Given the description of an element on the screen output the (x, y) to click on. 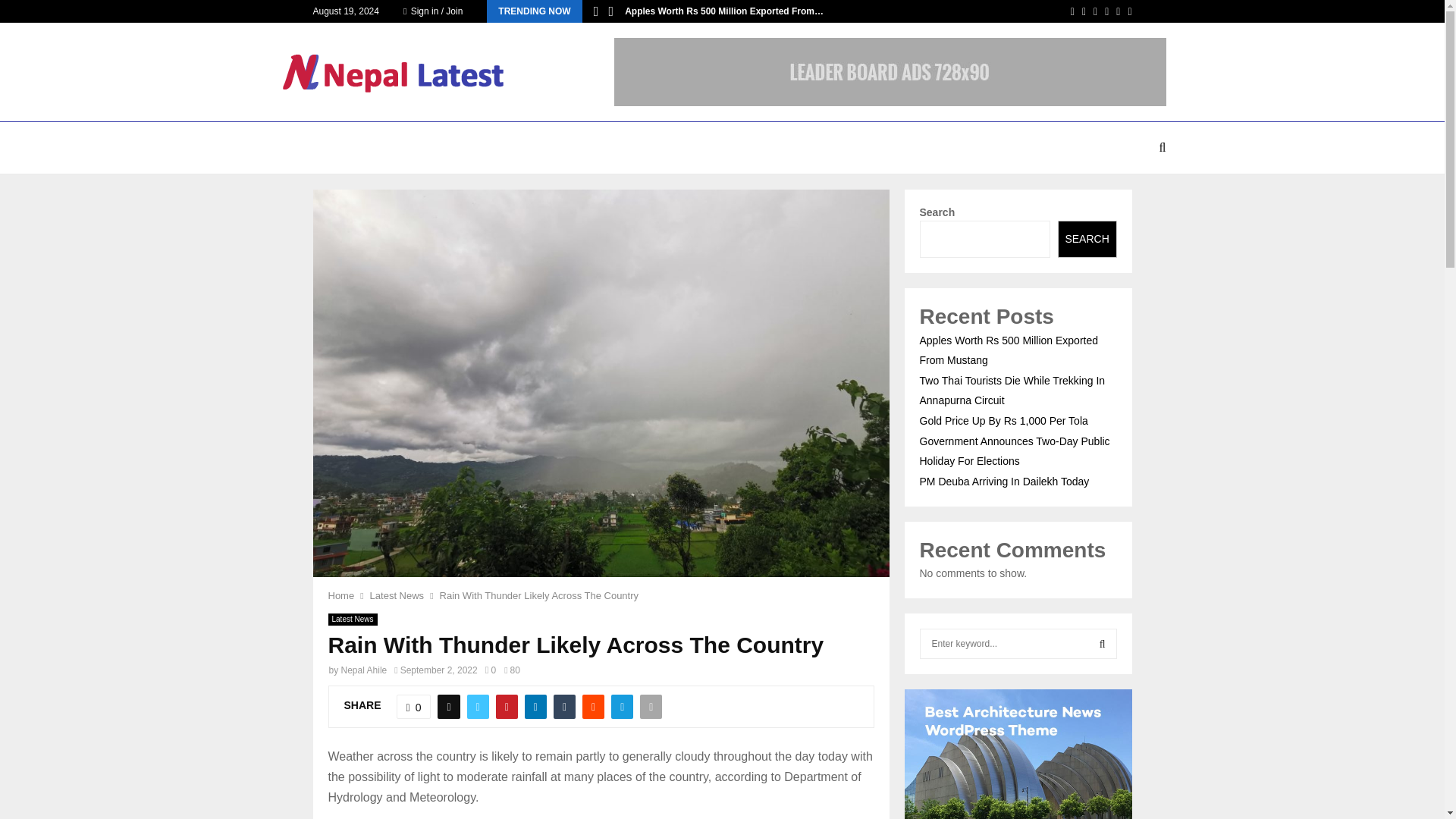
Login to your account (722, 293)
BUSINESS (448, 147)
Like (413, 706)
Sign up new account (722, 526)
LATEST NEWS (365, 147)
